Given the description of an element on the screen output the (x, y) to click on. 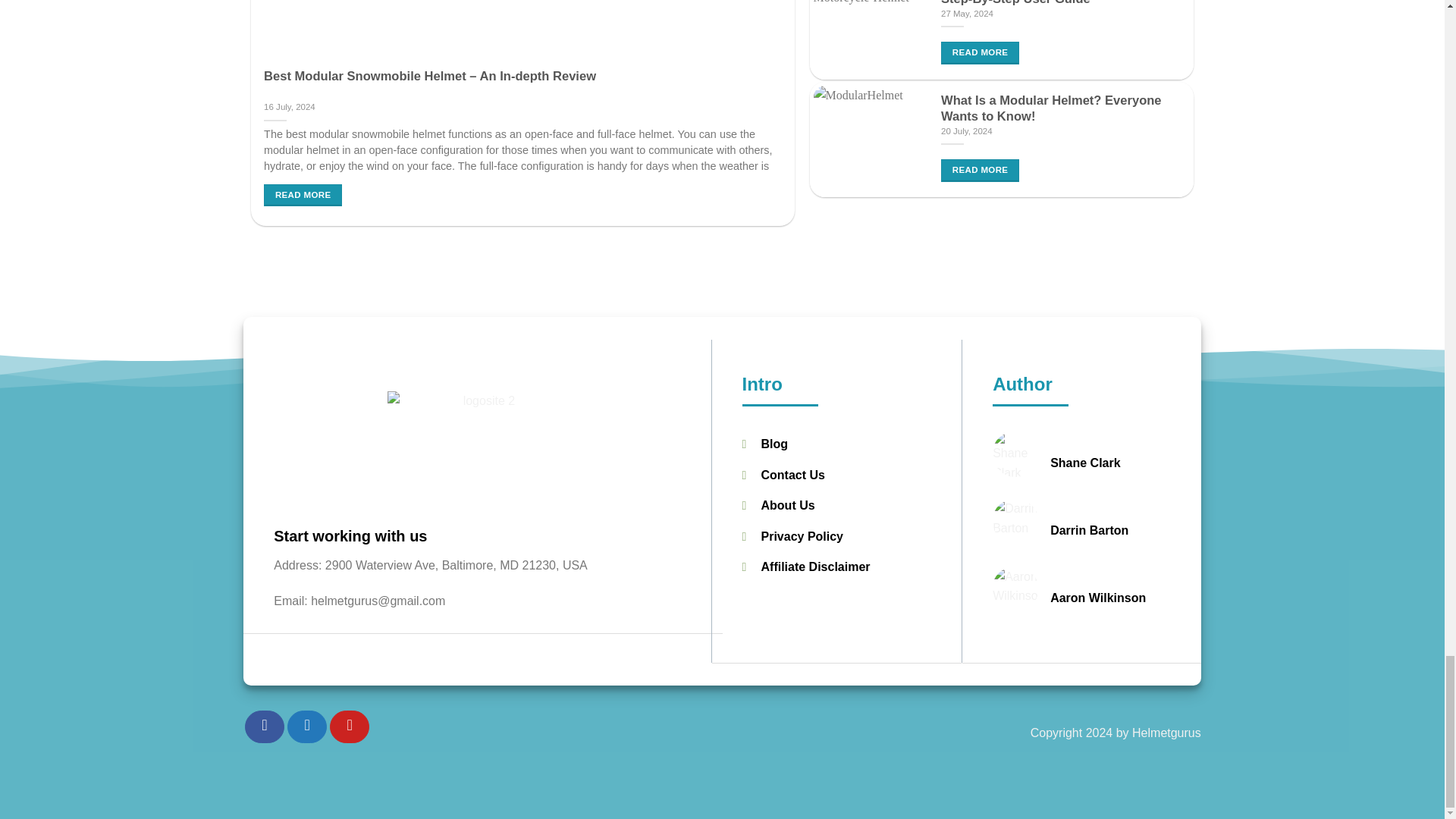
Follow on Twitter (306, 726)
Follow on Pinterest (349, 726)
Follow on Facebook (263, 726)
